Given the description of an element on the screen output the (x, y) to click on. 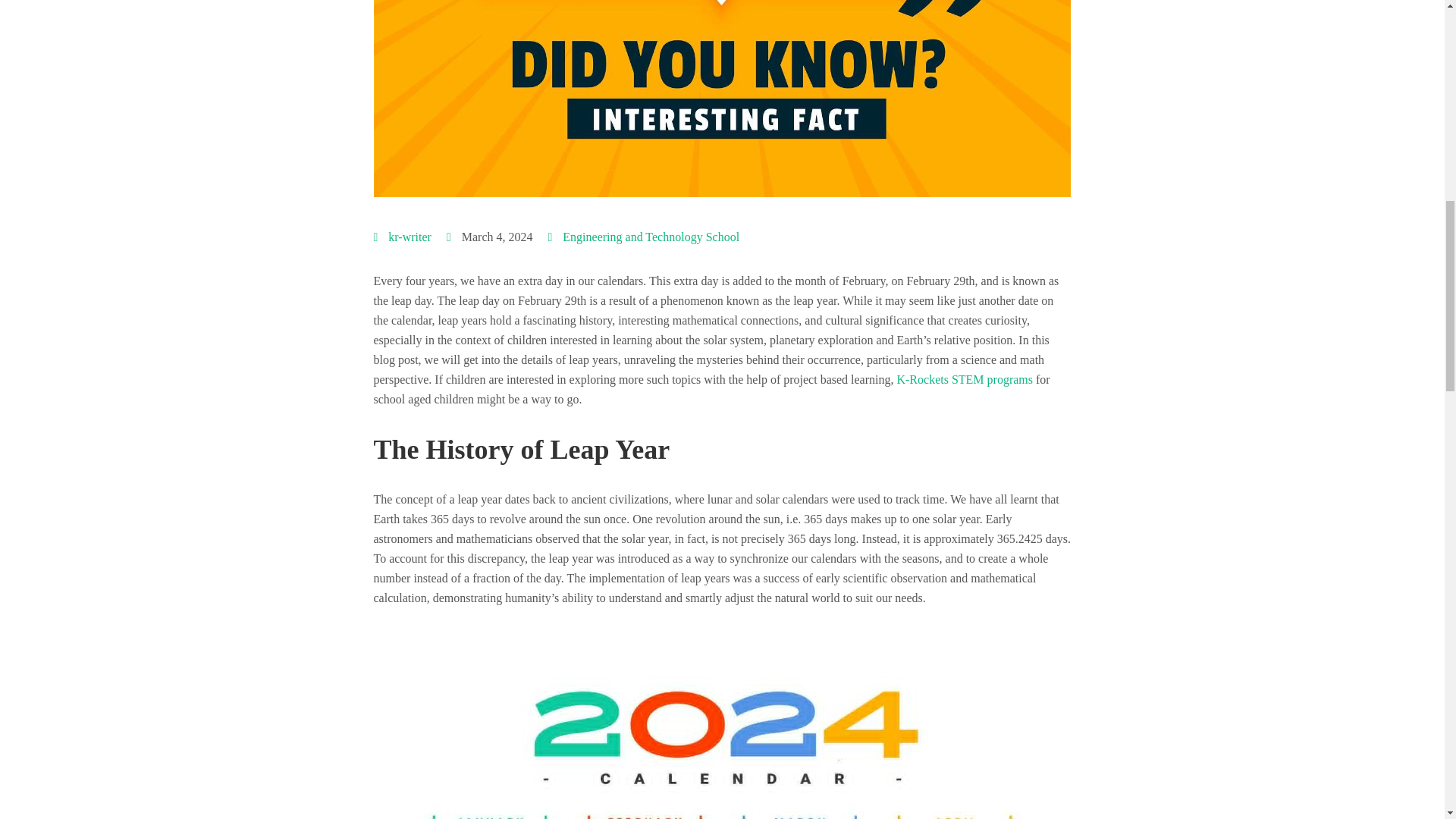
kr-writer (409, 236)
Engineering and Technology School (650, 236)
K-Rockets STEM programs (964, 379)
